Given the description of an element on the screen output the (x, y) to click on. 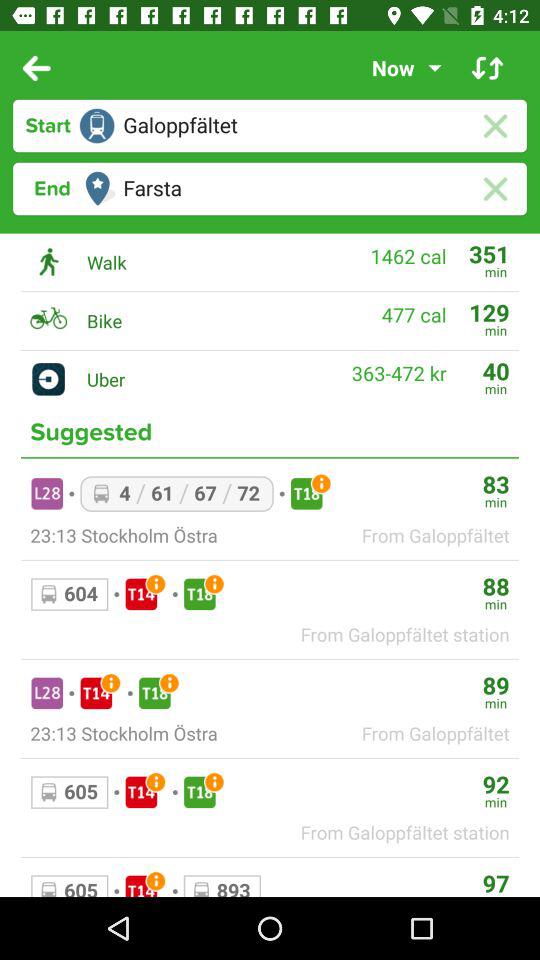
erase location (494, 125)
